Given the description of an element on the screen output the (x, y) to click on. 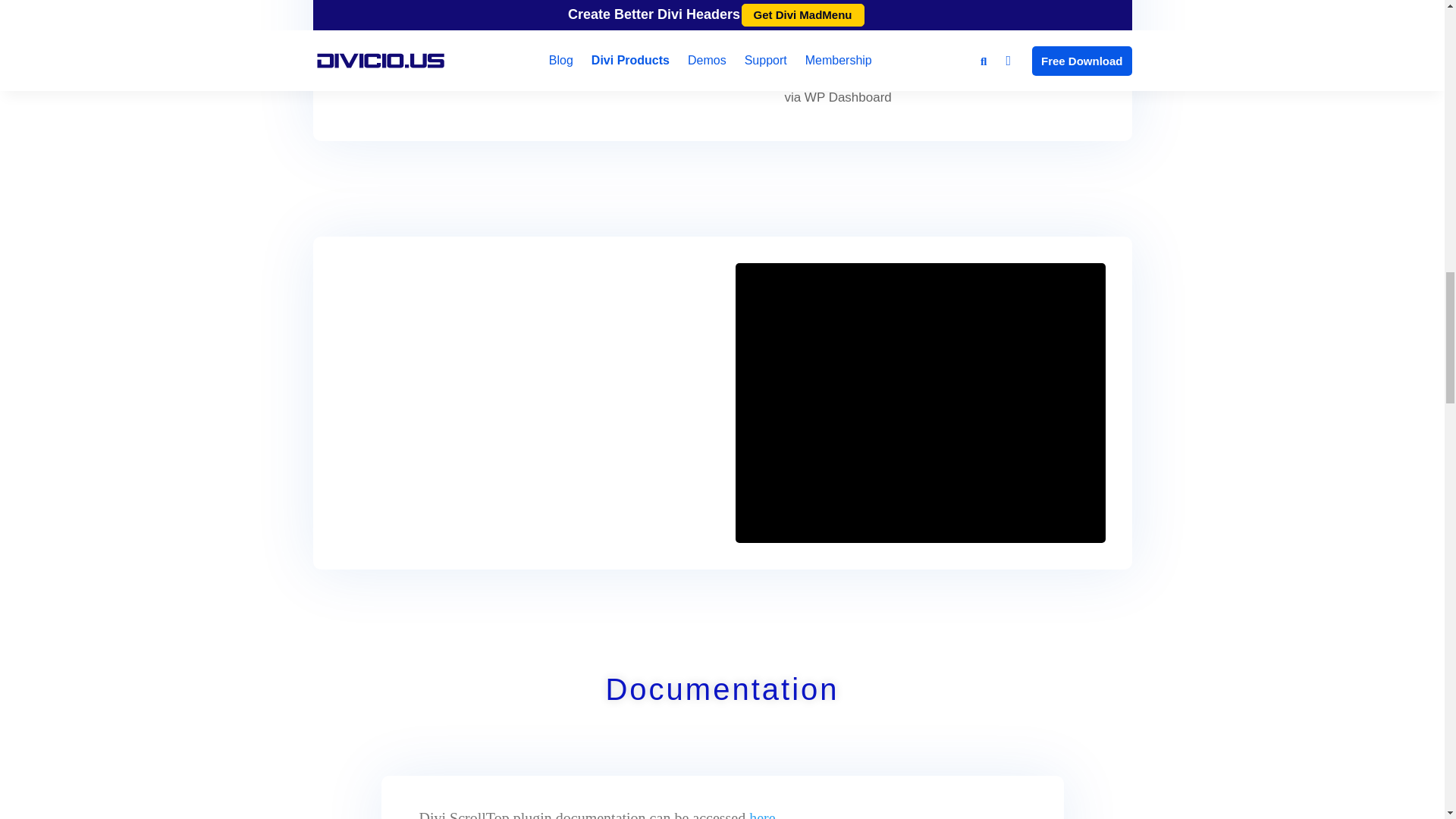
Introducing the ScrollTop Plugin for Divi Theme (524, 401)
ScrollTop Plugin Animations (920, 402)
